Given the description of an element on the screen output the (x, y) to click on. 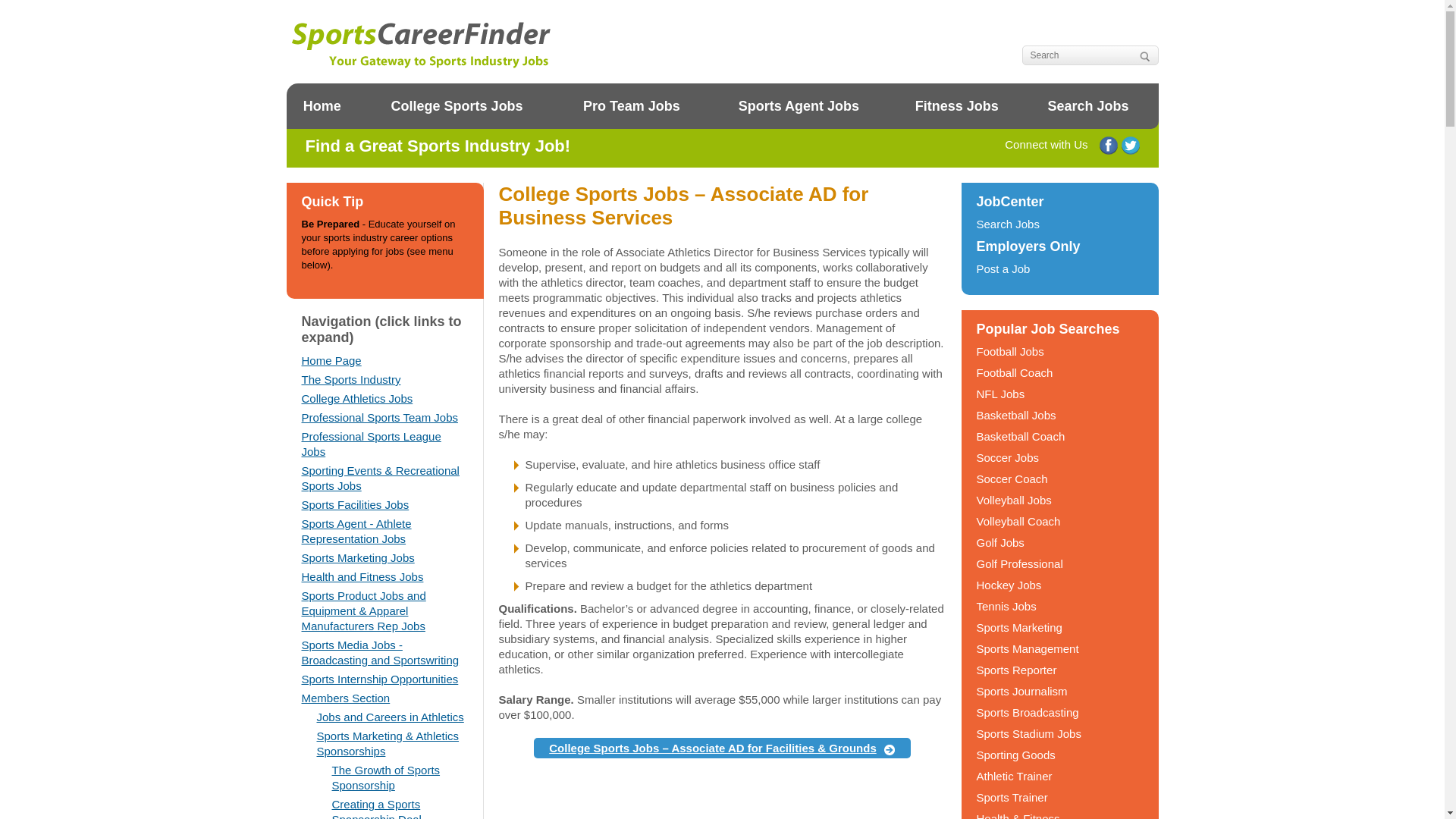
Follow us on Twitter (1129, 145)
Like us on Facebook (1108, 145)
Members Section (345, 697)
Health and Fitness Jobs (362, 576)
Professional Sports League Jobs (371, 443)
Sports Facilities Jobs (355, 504)
Fitness Jobs (956, 105)
College Athletics Jobs (357, 398)
Home (322, 105)
Sports Internship Opportunities (379, 678)
Sports Marketing Jobs (357, 557)
The Growth of Sports Sponsorship (386, 777)
Search Jobs (1087, 105)
Jobs and Careers in Athletics (390, 716)
Sports Marketing Jobs (357, 557)
